Given the description of an element on the screen output the (x, y) to click on. 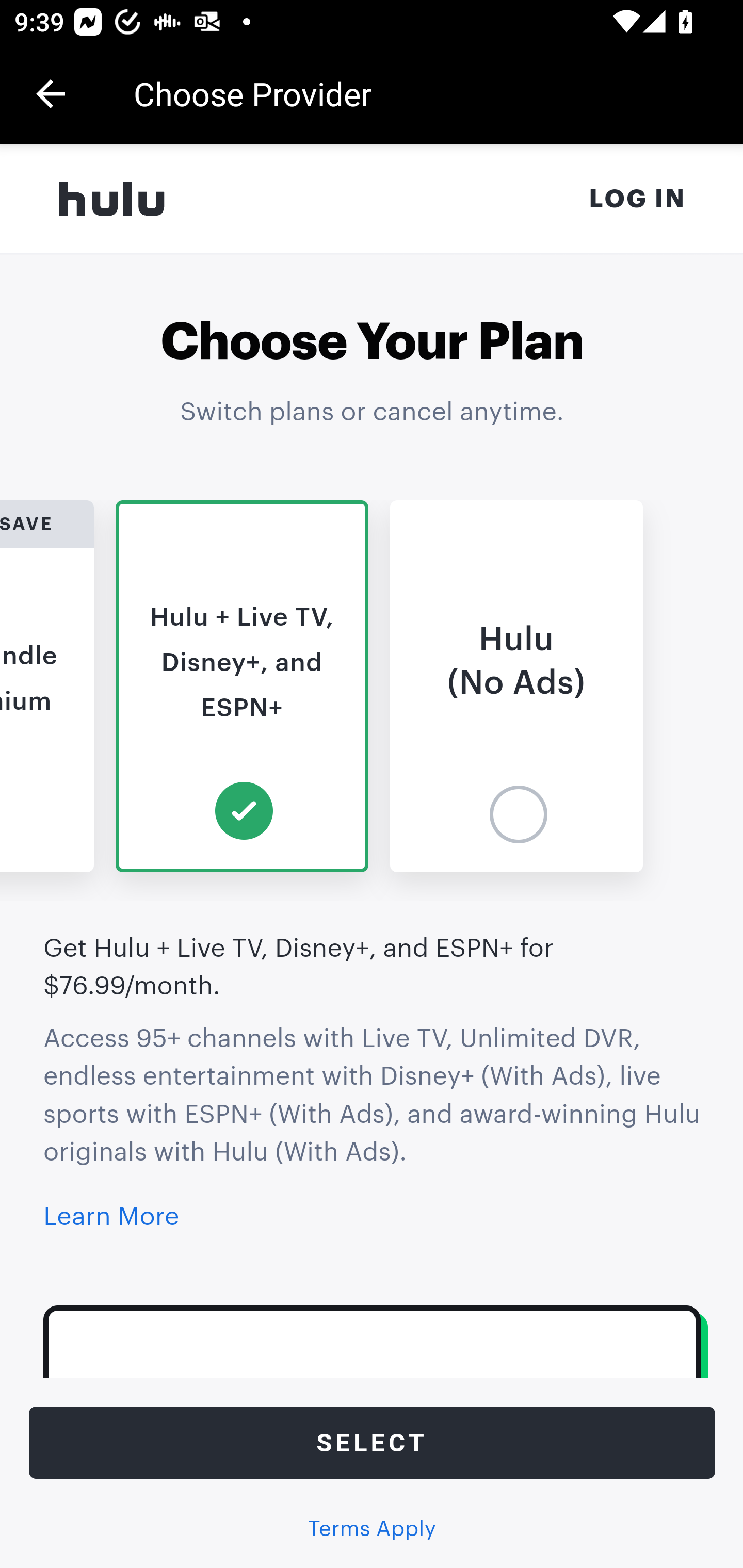
Navigate up (50, 93)
LOG IN (638, 199)
Hulu + Live TV, Disney+, and ESPN+ (242, 685)
Hulu (No Ads) (517, 685)
Learn More (111, 1216)
Terms Apply (371, 1528)
